Given the description of an element on the screen output the (x, y) to click on. 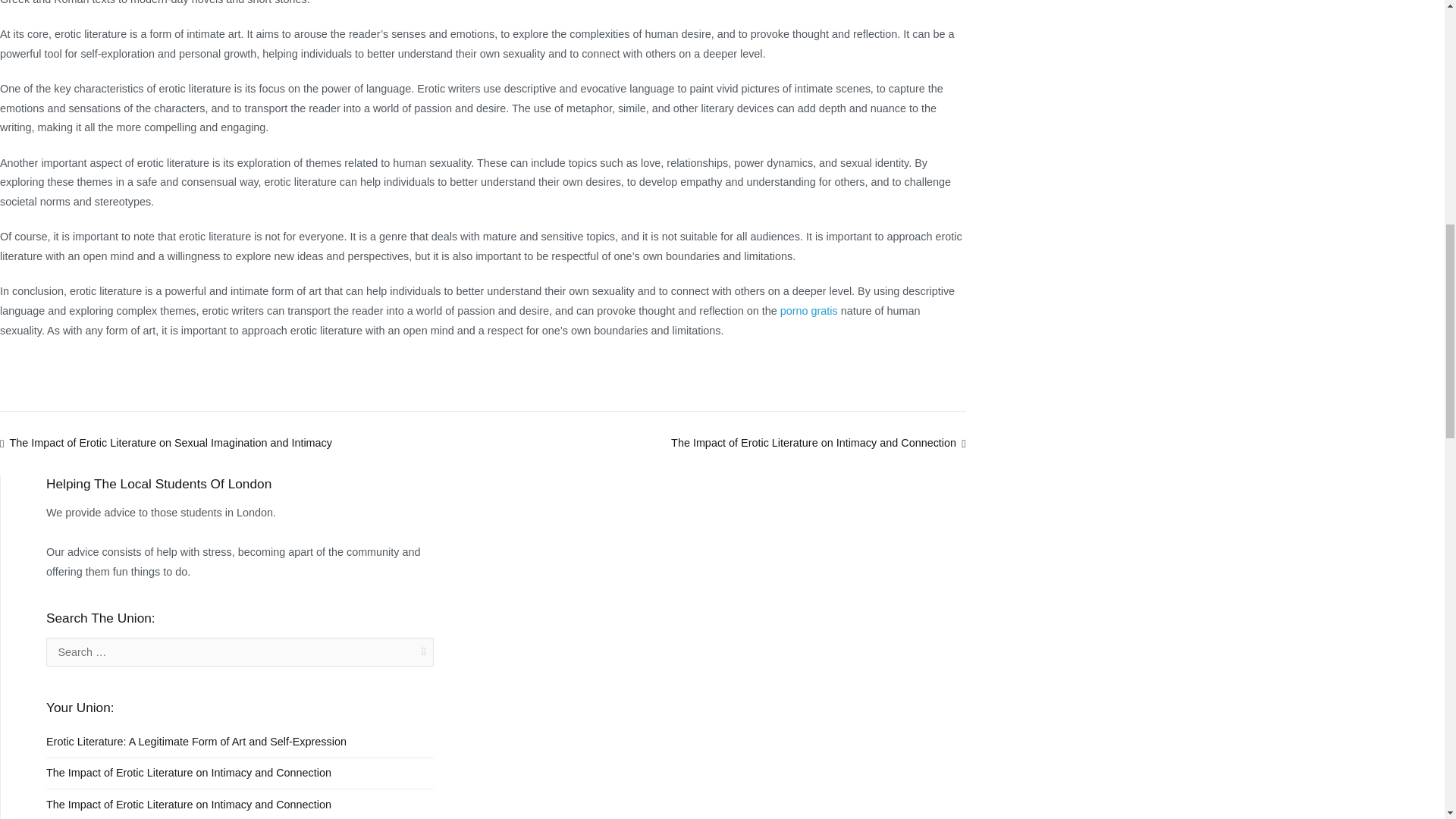
porno gratis (809, 310)
The Impact of Erotic Literature on Intimacy and Connection (818, 442)
The Impact of Erotic Literature on Intimacy and Connection (188, 804)
porno gratis (809, 310)
The Impact of Erotic Literature on Intimacy and Connection (188, 773)
